Given the description of an element on the screen output the (x, y) to click on. 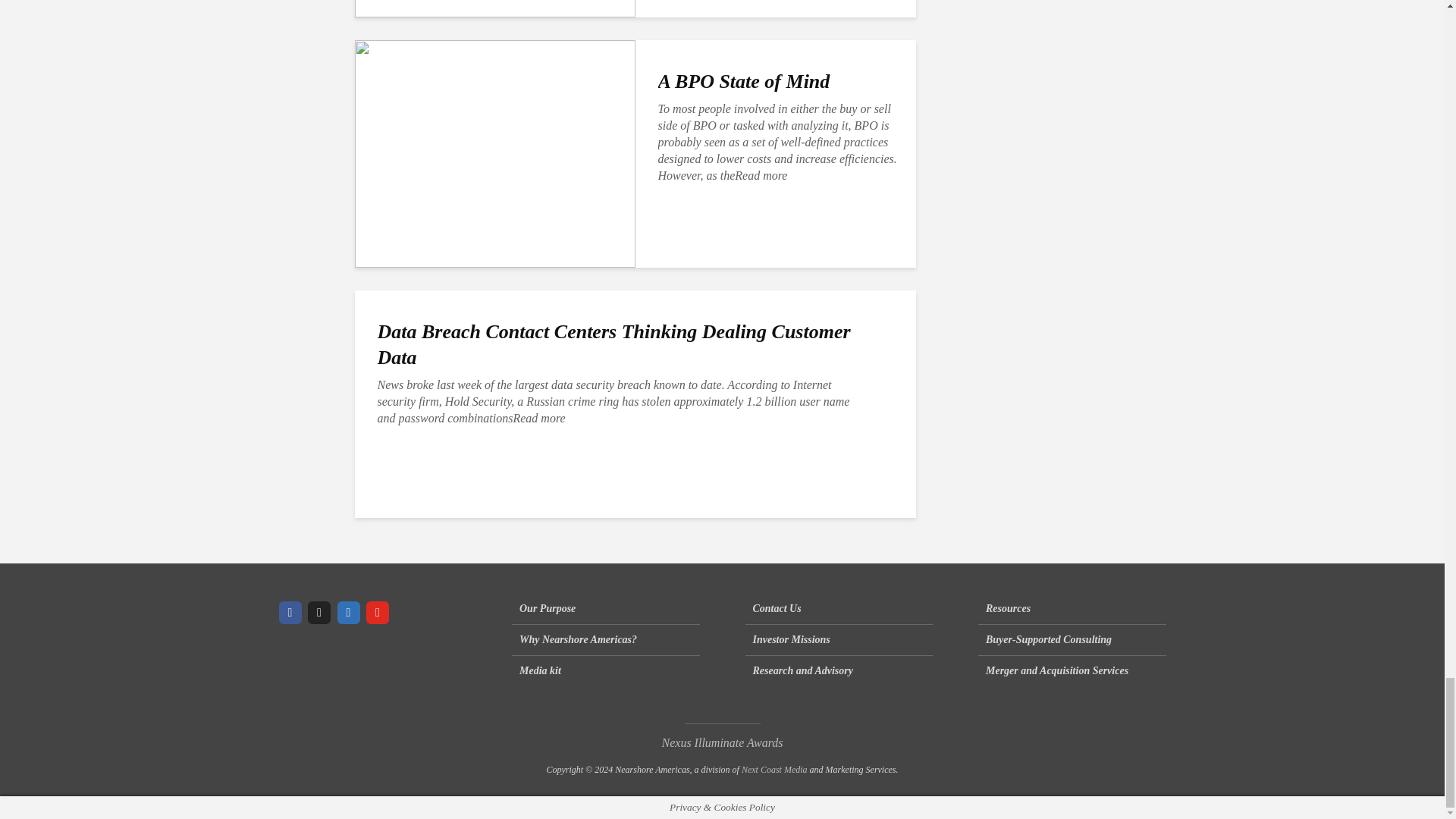
YouTube (377, 612)
A BPO State of Mind (494, 152)
Linkedin (347, 612)
Facebook (290, 612)
